Given the description of an element on the screen output the (x, y) to click on. 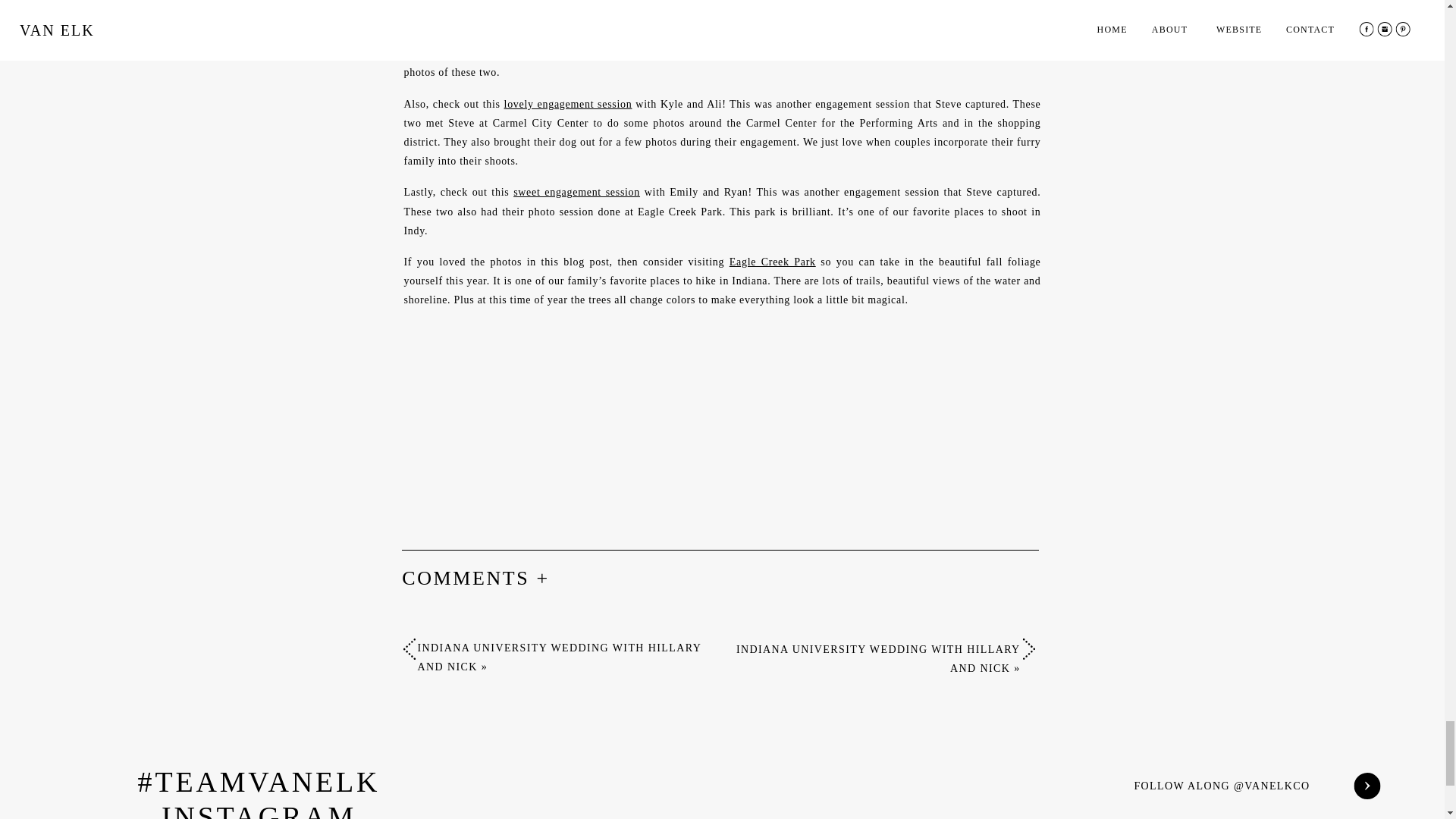
sweet engagement session (576, 192)
lovely engagement session (567, 103)
endearing engagement session (583, 15)
Eagle Creek Park (772, 261)
INDIANA UNIVERSITY WEDDING WITH HILLARY AND NICK (558, 657)
INDIANA UNIVERSITY WEDDING WITH HILLARY AND NICK (878, 658)
